Given the description of an element on the screen output the (x, y) to click on. 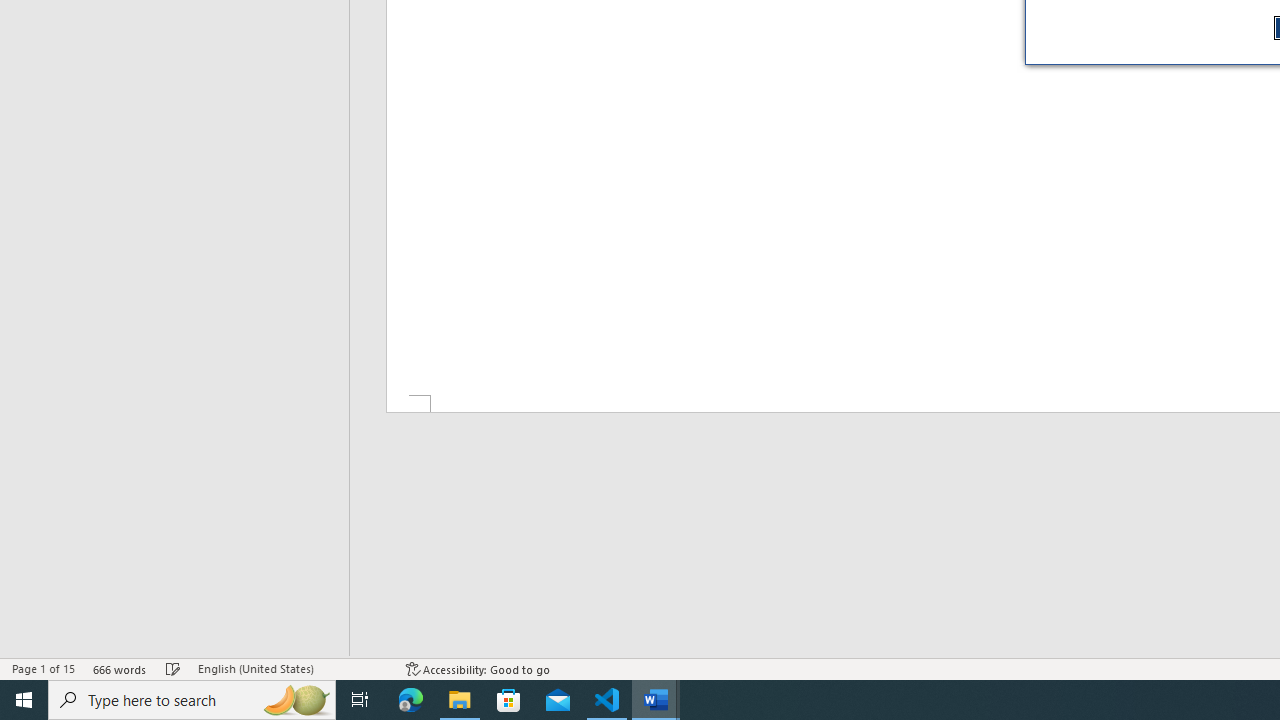
Search highlights icon opens search home window (295, 699)
Microsoft Store (509, 699)
Word Count 666 words (119, 668)
Accessibility Checker Accessibility: Good to go (478, 668)
Microsoft Edge (411, 699)
Start (24, 699)
Language English (United States) (292, 668)
File Explorer - 1 running window (460, 699)
Type here to search (191, 699)
Page Number Page 1 of 15 (43, 668)
Spelling and Grammar Check Checking (173, 668)
Word - 2 running windows (656, 699)
Visual Studio Code - 1 running window (607, 699)
Task View (359, 699)
